Given the description of an element on the screen output the (x, y) to click on. 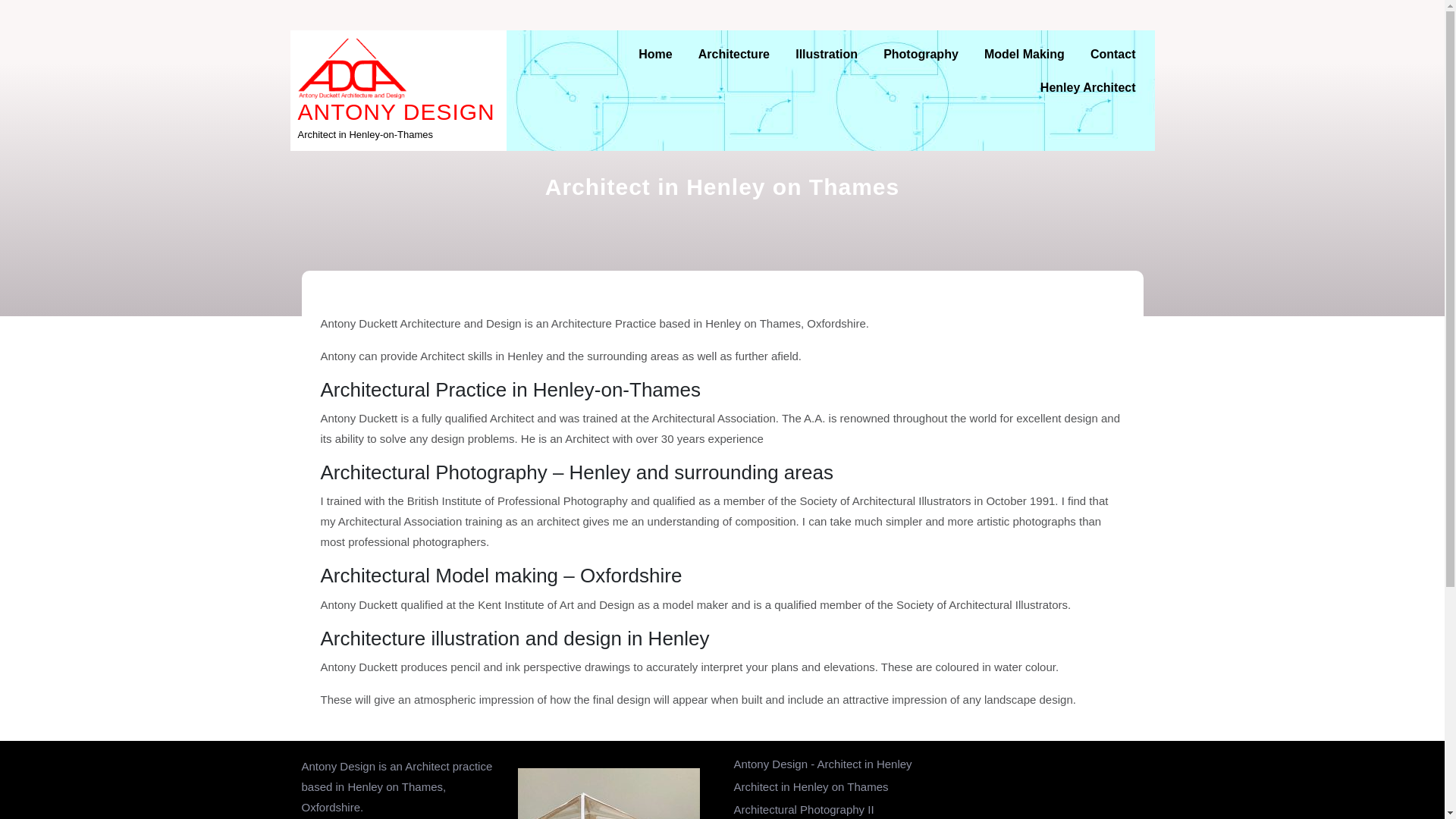
Architecture (733, 54)
Henley Architect (1088, 87)
Architect in Henley on Thames (810, 786)
Photography (920, 54)
Home (654, 54)
Architectural Photography II (804, 809)
ANTONY DESIGN (396, 111)
Contact (1112, 54)
Illustration (826, 54)
Antony Design - Architect in Henley (822, 763)
Model Making (1023, 54)
